Given the description of an element on the screen output the (x, y) to click on. 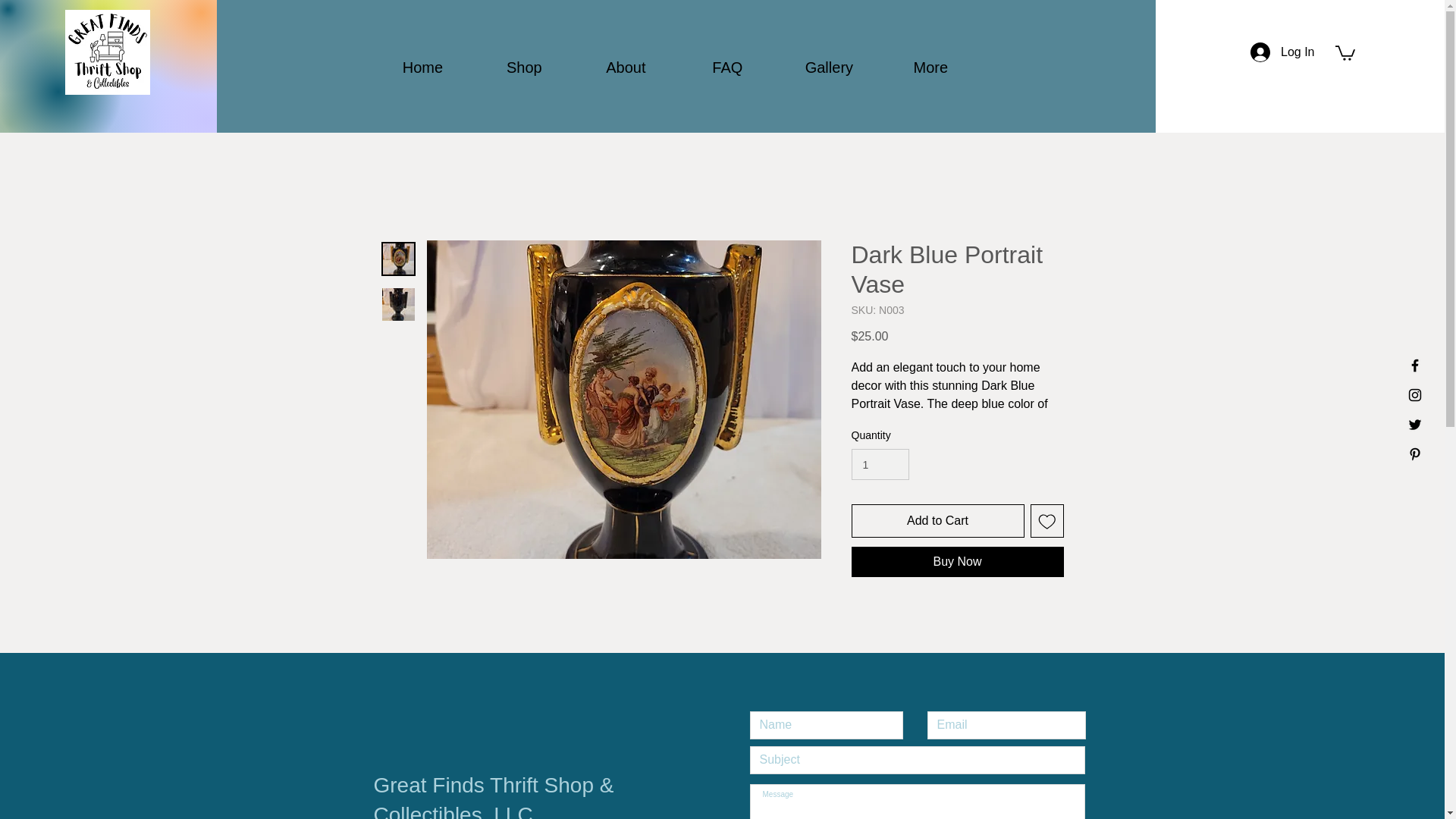
About (626, 67)
1 (879, 463)
Add to Cart (936, 520)
Buy Now (956, 562)
FAQ (727, 67)
Shop (524, 67)
Gallery (828, 67)
Log In (1282, 51)
Home (422, 67)
